Given the description of an element on the screen output the (x, y) to click on. 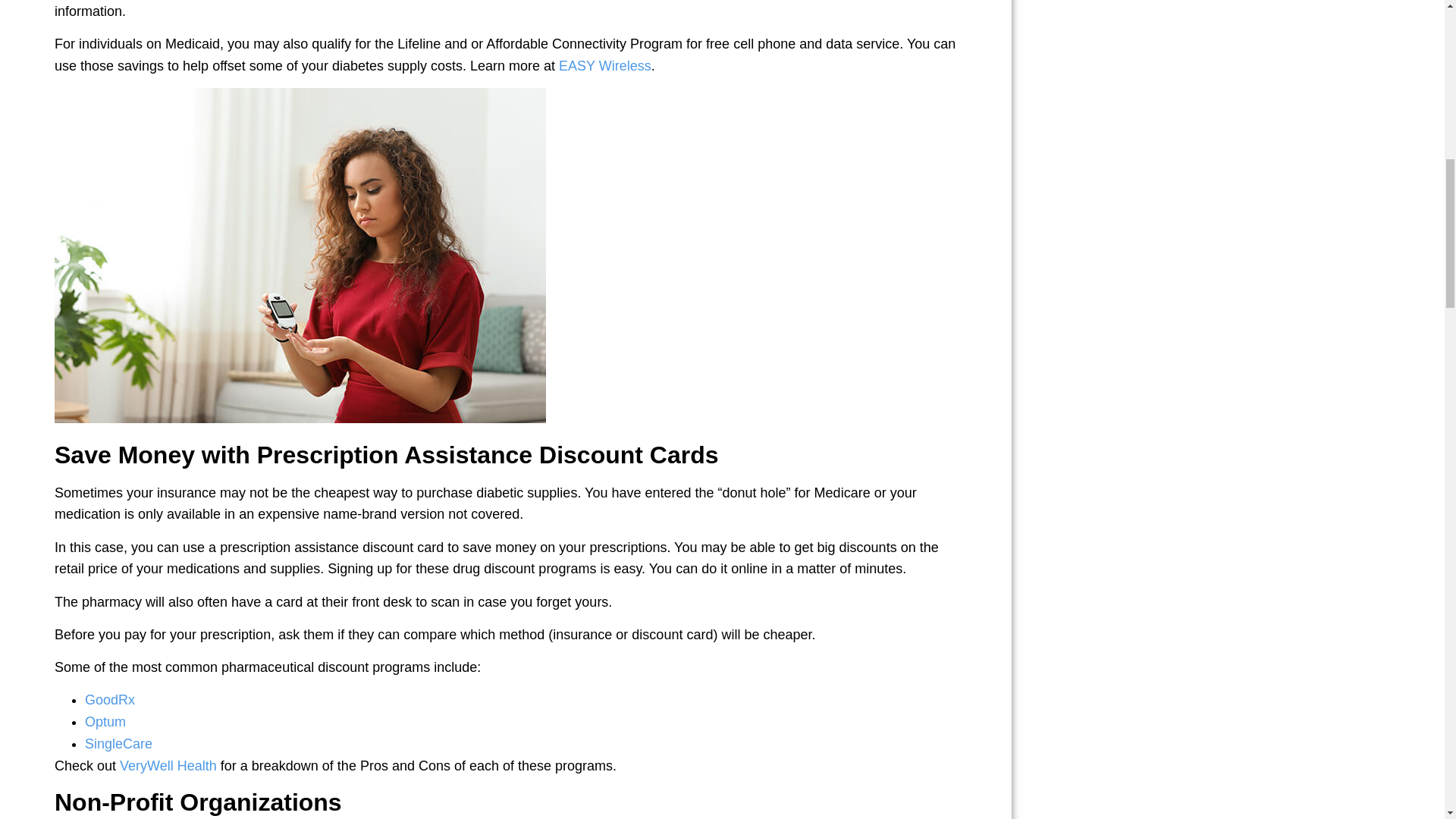
Optum (104, 721)
GoodRx (109, 699)
EASY Wireless (604, 65)
VeryWell Health (167, 765)
SingleCare (118, 743)
